Given the description of an element on the screen output the (x, y) to click on. 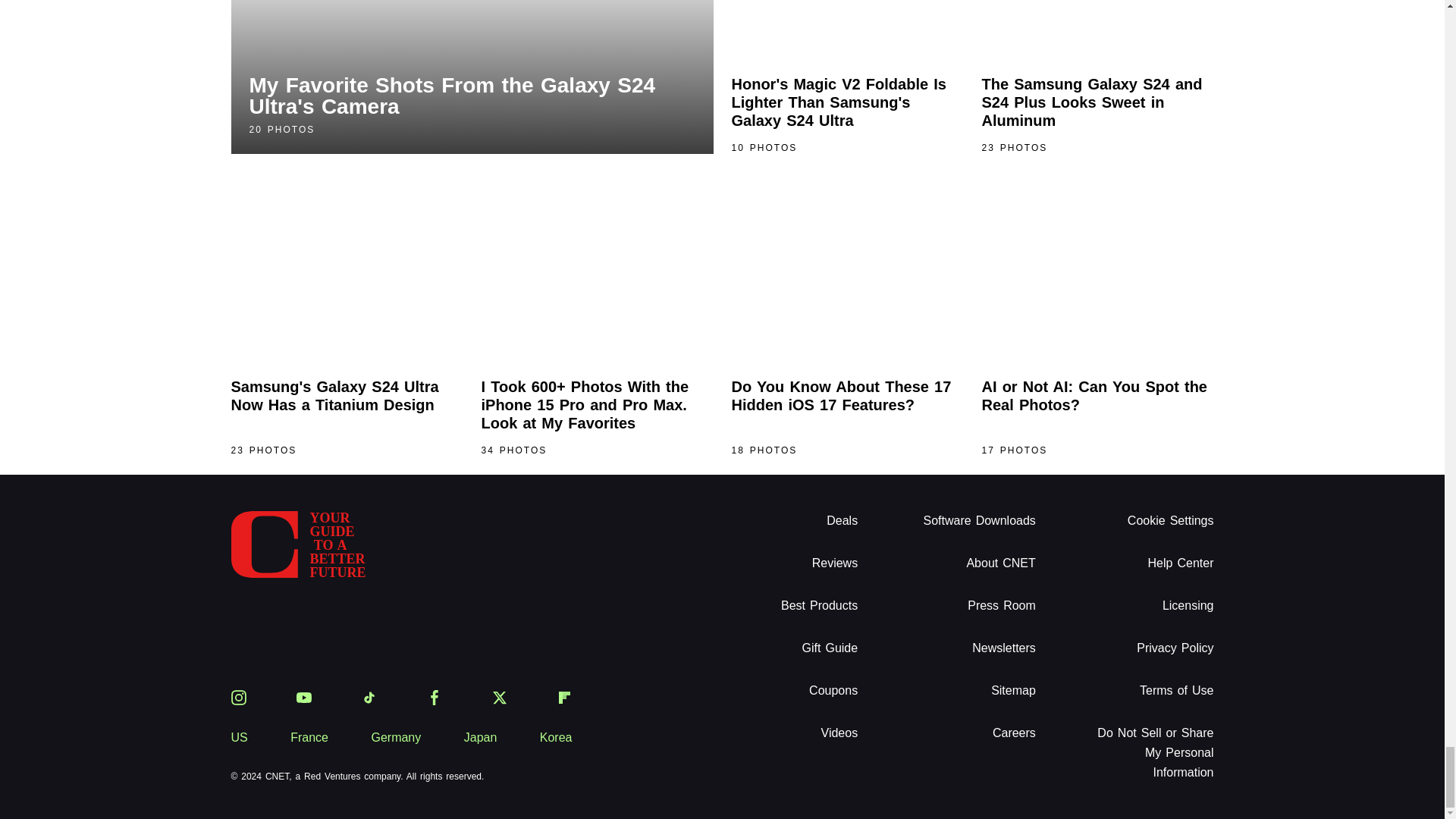
My Favorite Shots From the Galaxy S24 Ultra's Camera (471, 76)
